Given the description of an element on the screen output the (x, y) to click on. 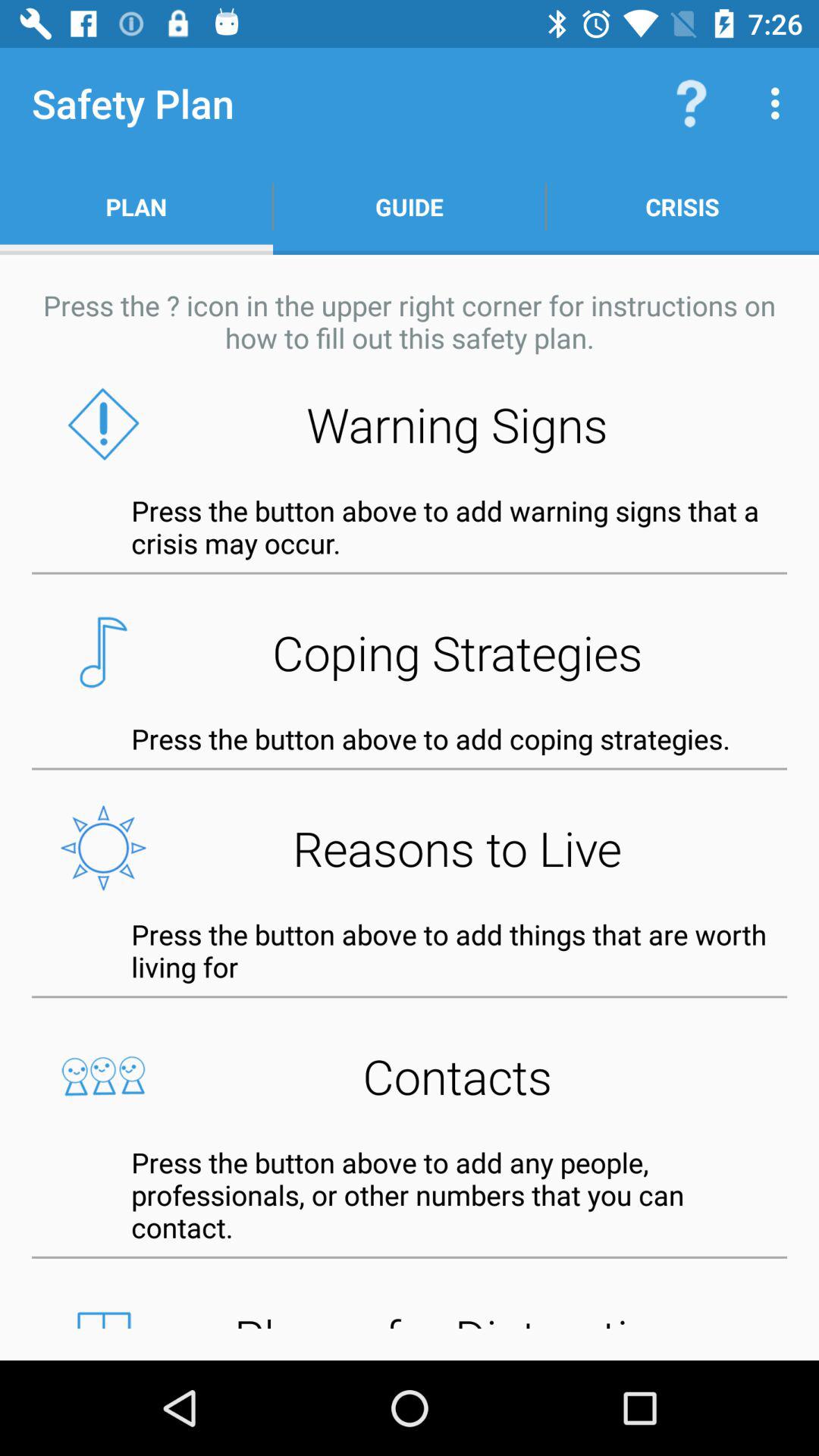
open the places for distraction button (409, 1314)
